Given the description of an element on the screen output the (x, y) to click on. 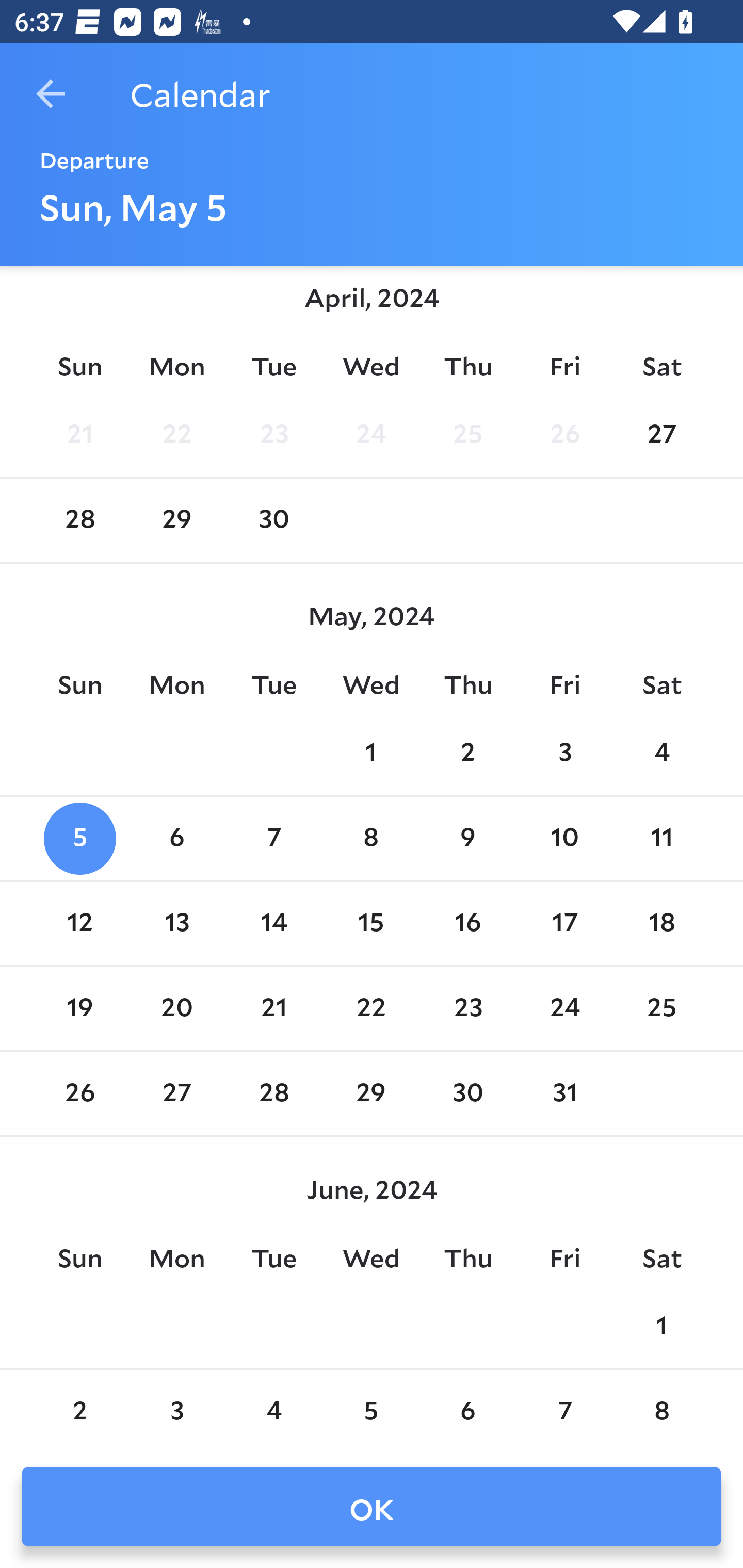
Navigate up (50, 93)
21 (79, 435)
22 (177, 435)
23 (273, 435)
24 (371, 435)
25 (467, 435)
26 (565, 435)
27 (661, 435)
28 (79, 520)
29 (177, 520)
30 (273, 520)
1 (371, 754)
2 (467, 754)
3 (565, 754)
4 (661, 754)
5 (79, 838)
6 (177, 838)
7 (273, 838)
8 (371, 838)
9 (467, 838)
10 (565, 838)
11 (661, 838)
12 (79, 923)
13 (177, 923)
14 (273, 923)
15 (371, 923)
16 (467, 923)
17 (565, 923)
18 (661, 923)
19 (79, 1008)
20 (177, 1008)
21 (273, 1008)
22 (371, 1008)
23 (467, 1008)
24 (565, 1008)
25 (661, 1008)
26 (79, 1094)
27 (177, 1094)
28 (273, 1094)
29 (371, 1094)
30 (467, 1094)
31 (565, 1094)
1 (661, 1326)
2 (79, 1410)
3 (177, 1410)
4 (273, 1410)
5 (371, 1410)
6 (467, 1410)
7 (565, 1410)
8 (661, 1410)
